Given the description of an element on the screen output the (x, y) to click on. 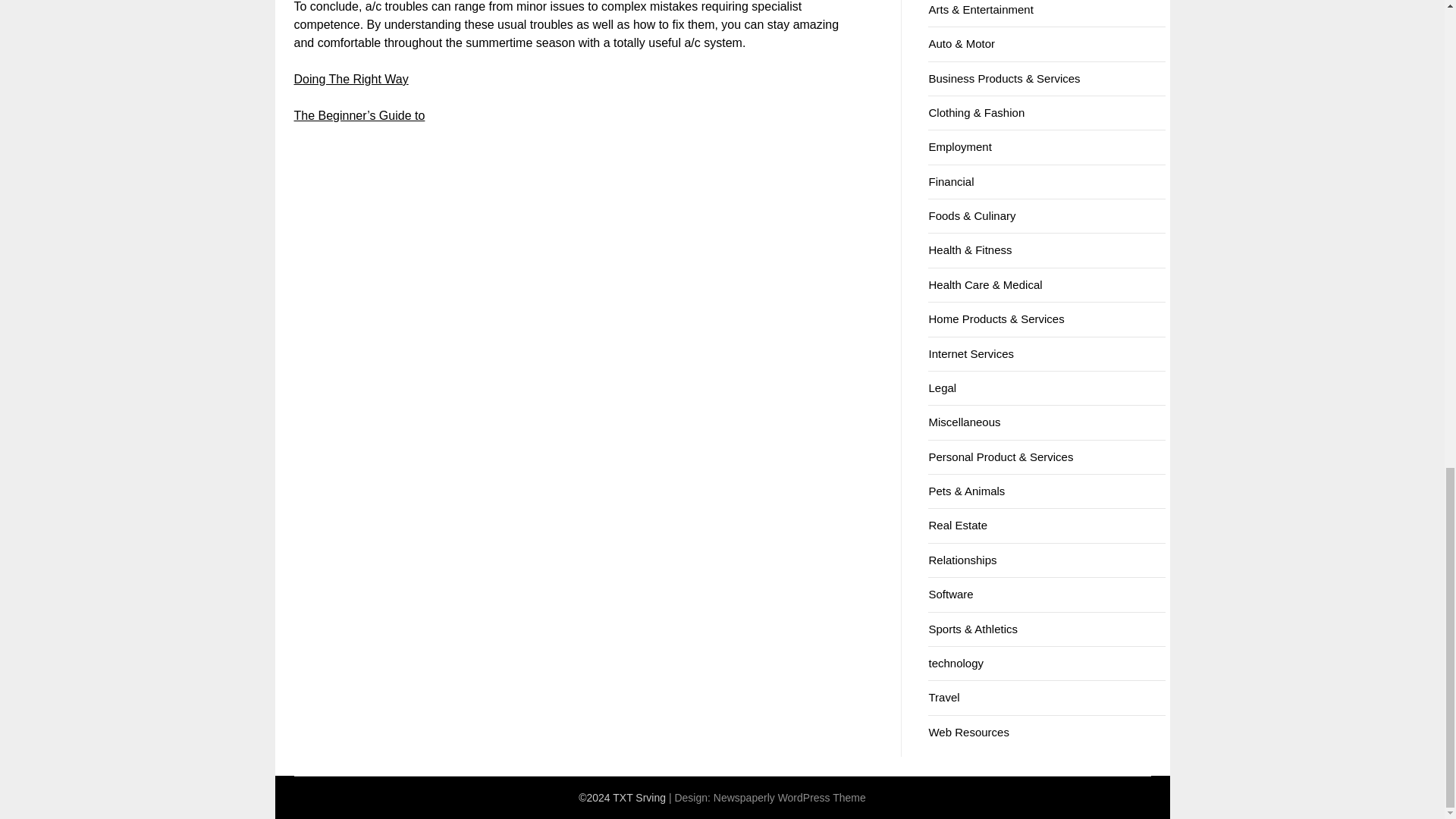
Internet Services (970, 352)
Doing The Right Way (351, 78)
Legal (942, 387)
Miscellaneous (964, 421)
Financial (951, 181)
Employment (959, 146)
